Given the description of an element on the screen output the (x, y) to click on. 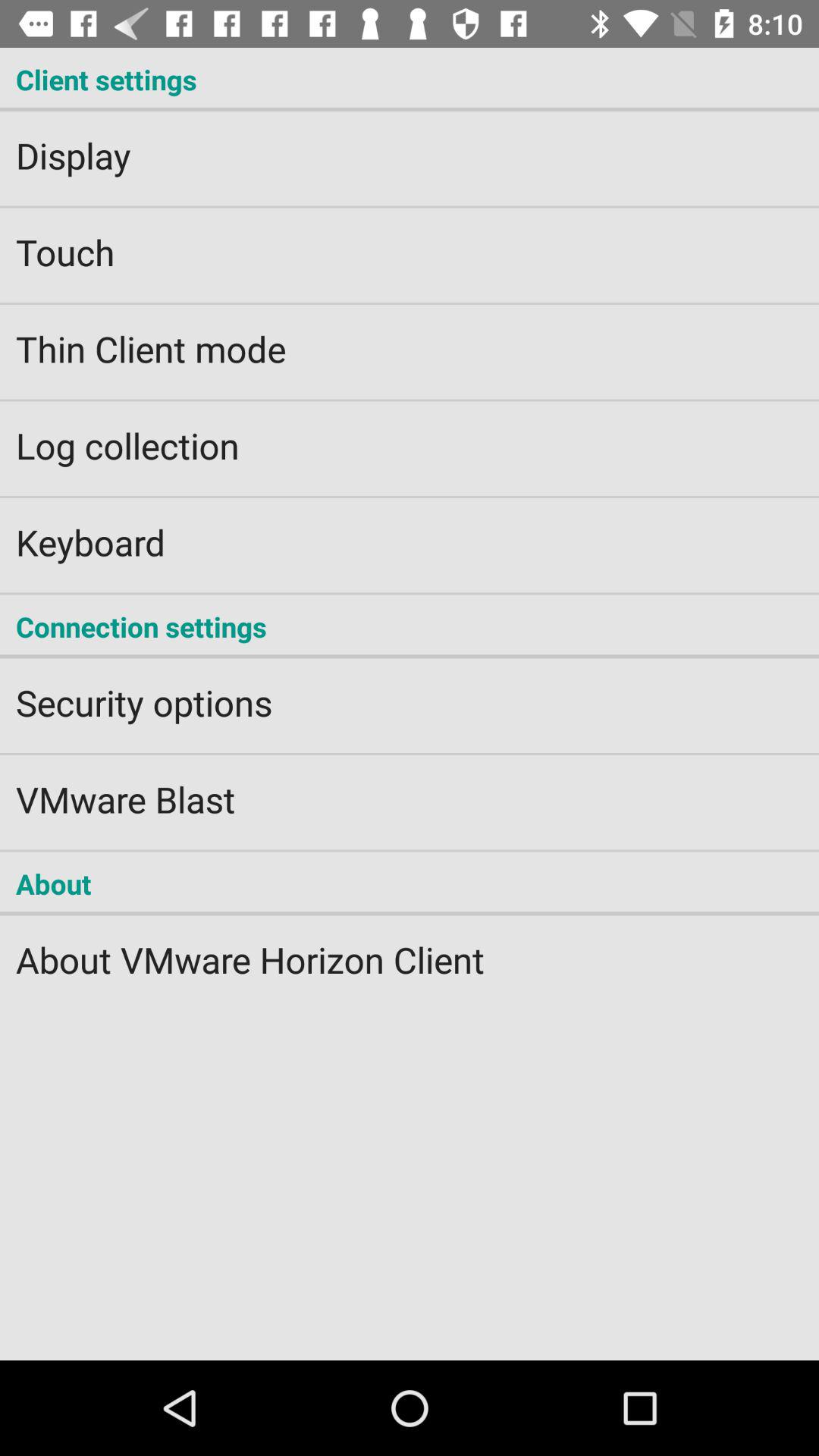
turn off icon above the security options (409, 626)
